Given the description of an element on the screen output the (x, y) to click on. 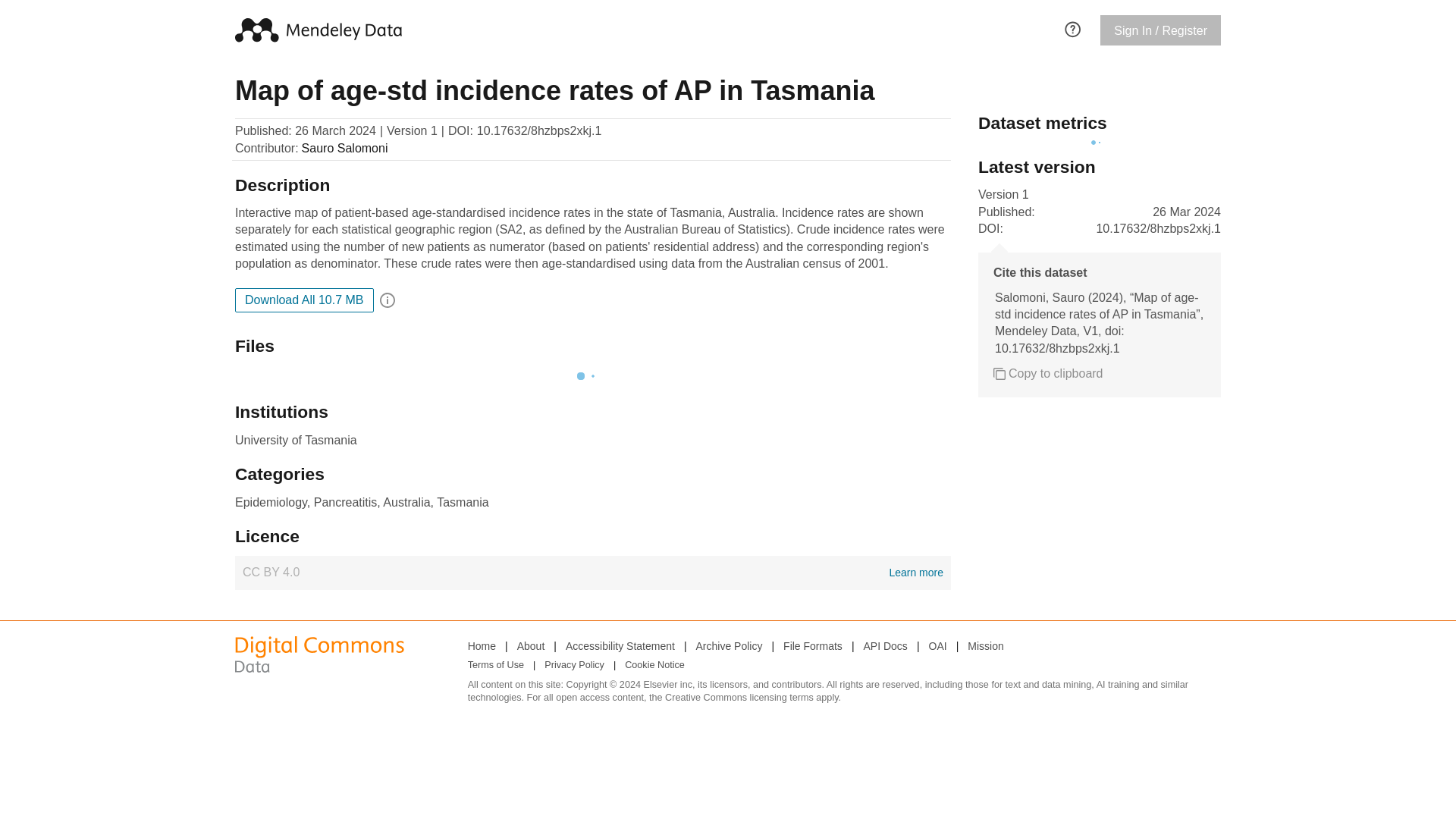
Mission (985, 646)
API Docs (885, 646)
Home (481, 646)
Accessibility Statement (620, 646)
Cookie Notice (654, 665)
Privacy Policy (574, 665)
FAQ (1072, 27)
File Formats (813, 646)
About (530, 646)
